Given the description of an element on the screen output the (x, y) to click on. 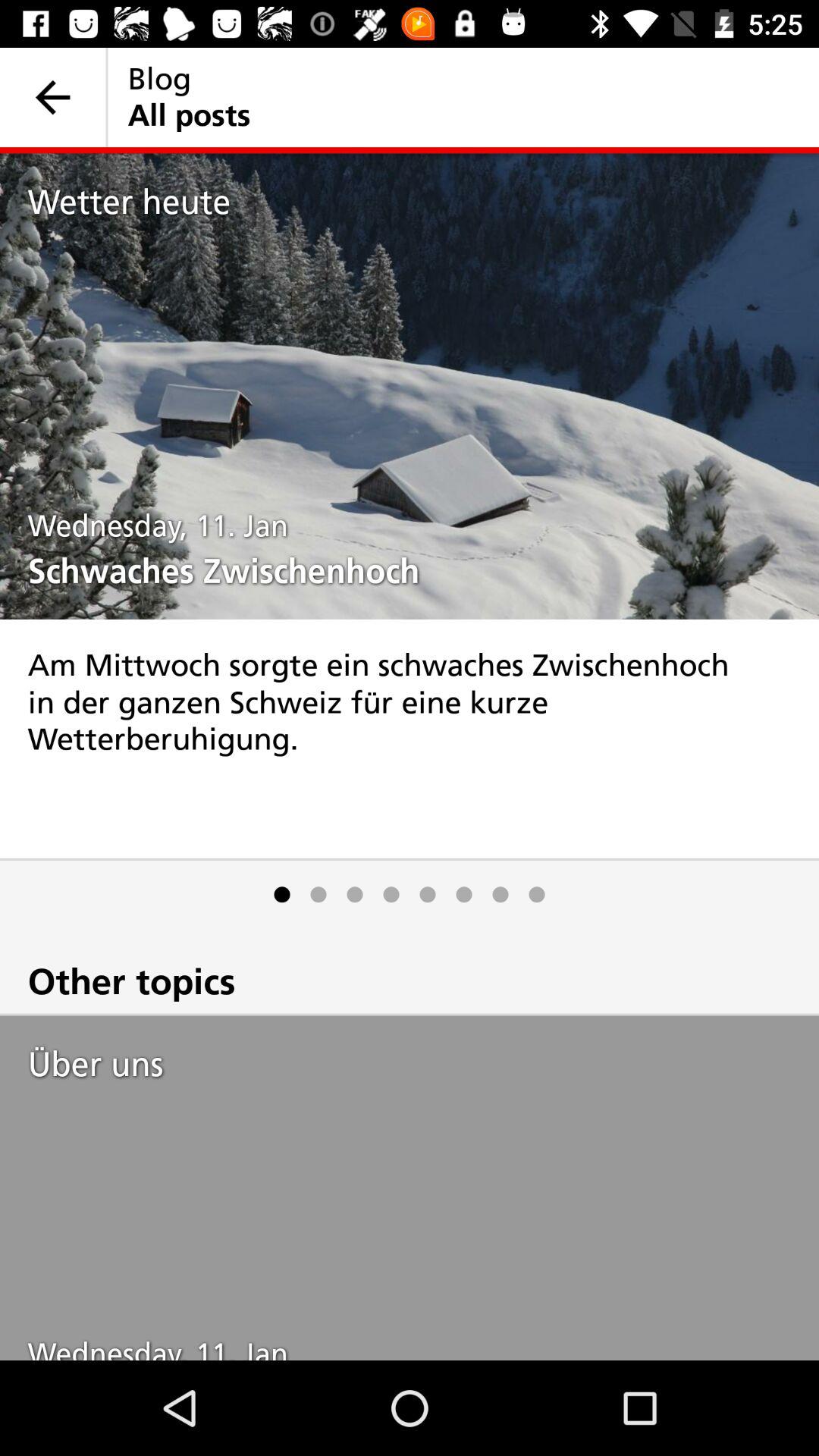
launch am mittwoch sorgte item (409, 738)
